Given the description of an element on the screen output the (x, y) to click on. 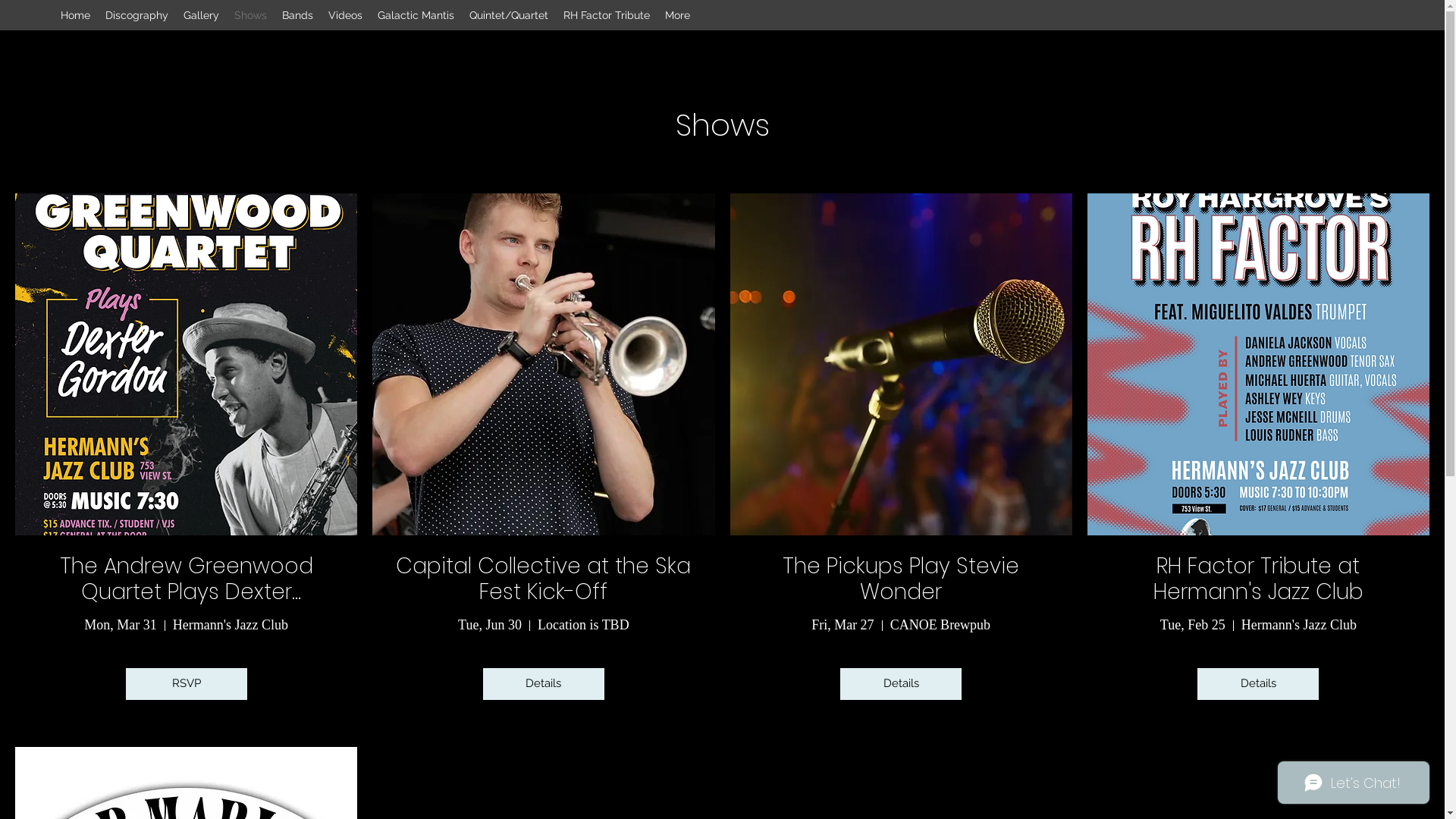
RH Factor Tribute at Hermann's Jazz Club Element type: text (1258, 578)
Details Element type: text (900, 683)
RH Factor Tribute Element type: text (606, 14)
Discography Element type: text (136, 14)
Videos Element type: text (345, 14)
Shows Element type: text (250, 14)
The Andrew Greenwood Quartet Plays Dexter Gordon Element type: text (186, 591)
Capital Collective at the Ska Fest Kick-Off Element type: text (542, 578)
Gallery Element type: text (200, 14)
Home Element type: text (75, 14)
Galactic Mantis Element type: text (415, 14)
The Pickups Play Stevie Wonder Element type: text (900, 578)
RSVP Element type: text (186, 683)
Details Element type: text (543, 683)
Bands Element type: text (297, 14)
Details Element type: text (1257, 683)
Quintet/Quartet Element type: text (508, 14)
